Given the description of an element on the screen output the (x, y) to click on. 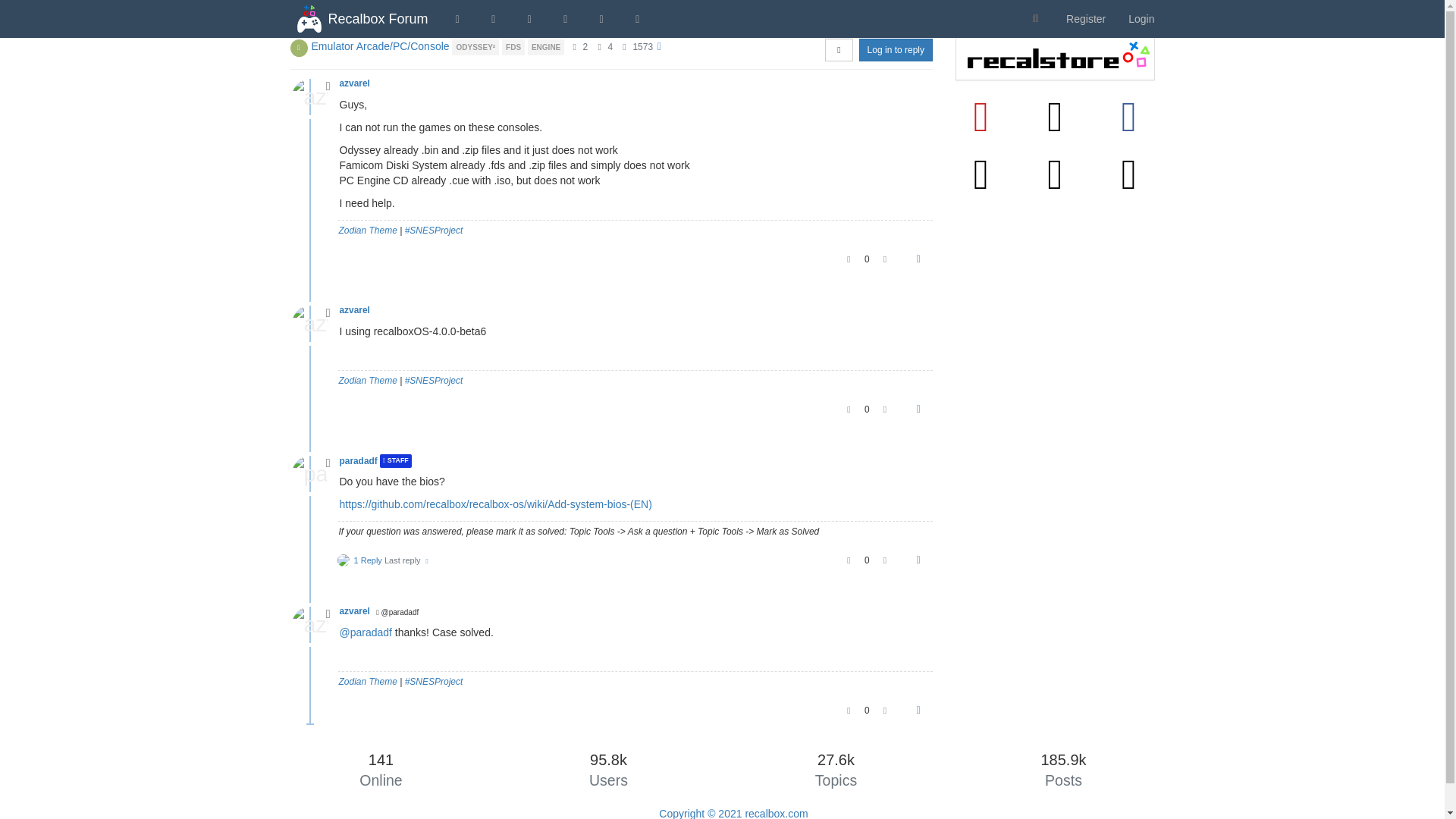
FDS (514, 46)
Log in to reply (896, 49)
Login (1141, 18)
Register (1085, 18)
Documentation (601, 18)
Zodian Theme (366, 230)
Search (1035, 18)
azvarel (354, 82)
Views (624, 46)
Discord (638, 18)
